Given the description of an element on the screen output the (x, y) to click on. 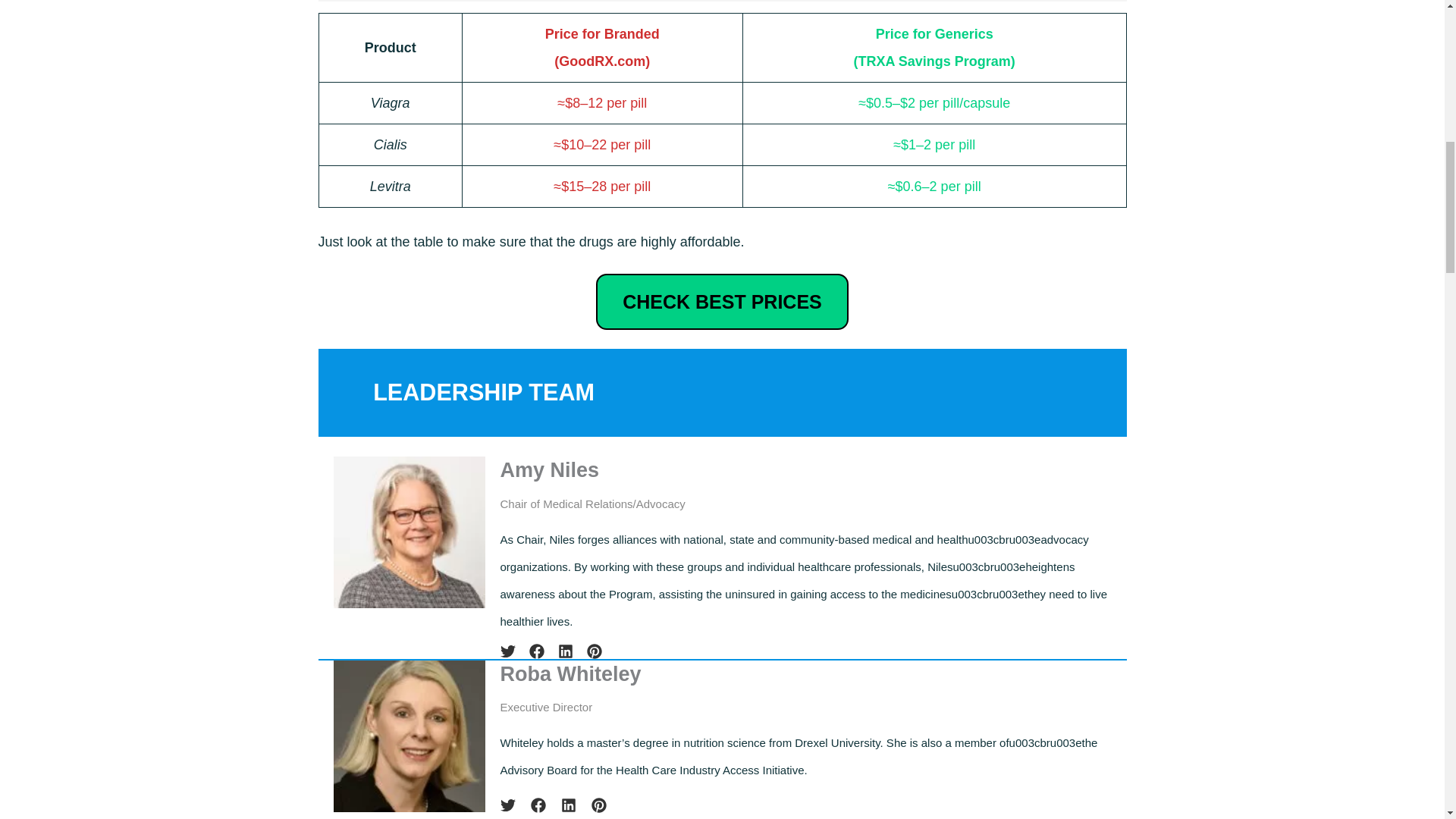
CHECK BEST PRICES (721, 301)
